Given the description of an element on the screen output the (x, y) to click on. 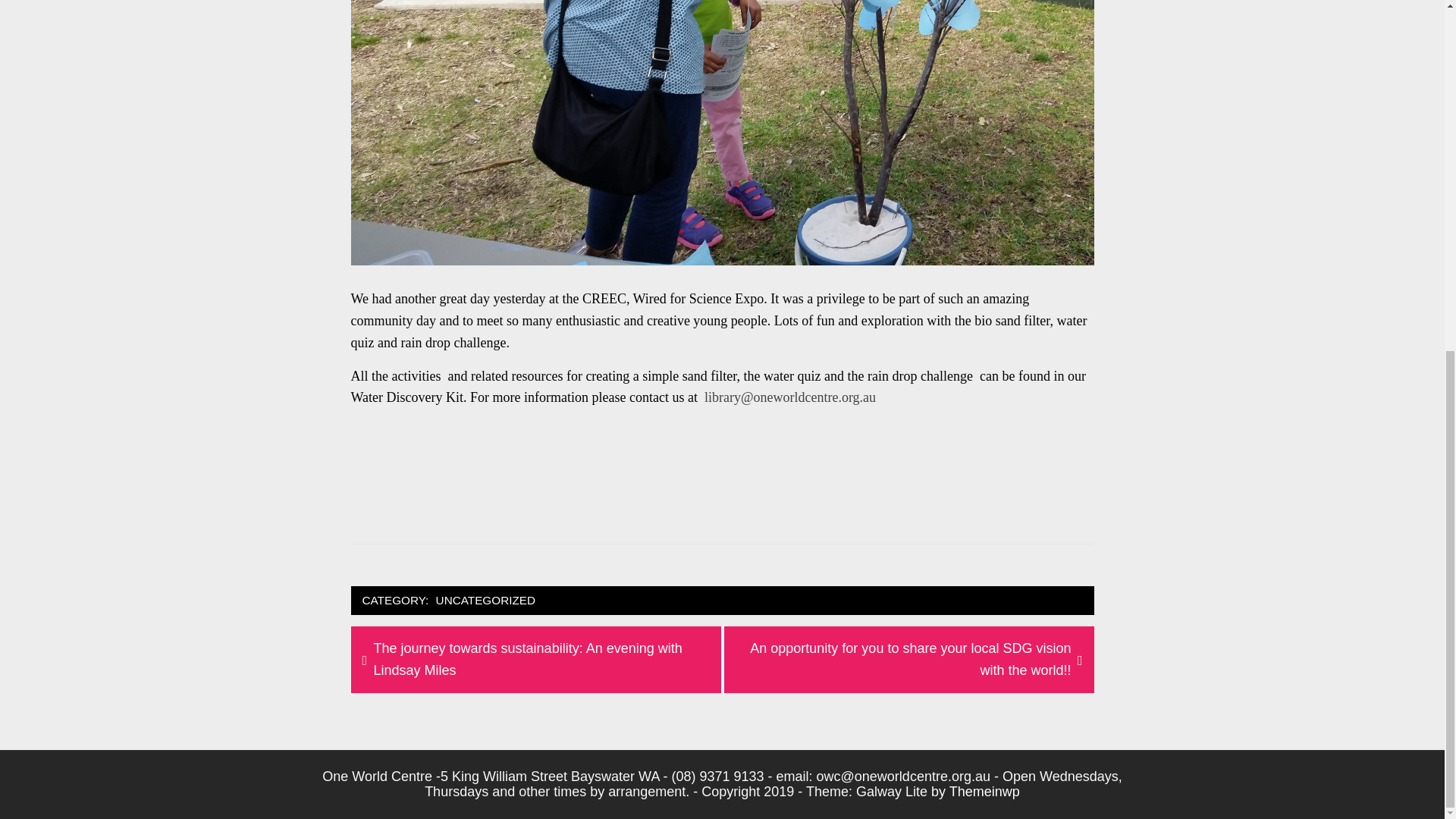
UNCATEGORIZED (485, 600)
